Given the description of an element on the screen output the (x, y) to click on. 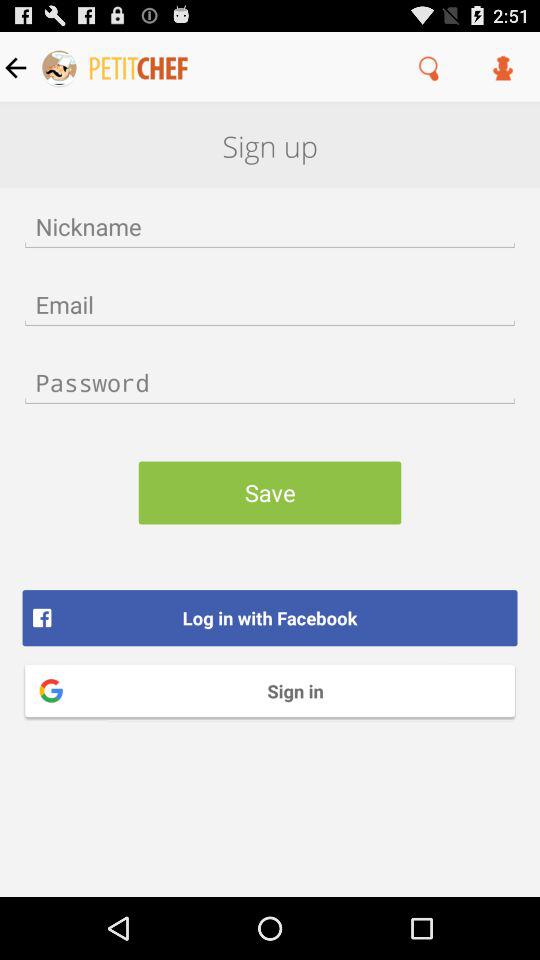
press the item below the log in with item (269, 690)
